Given the description of an element on the screen output the (x, y) to click on. 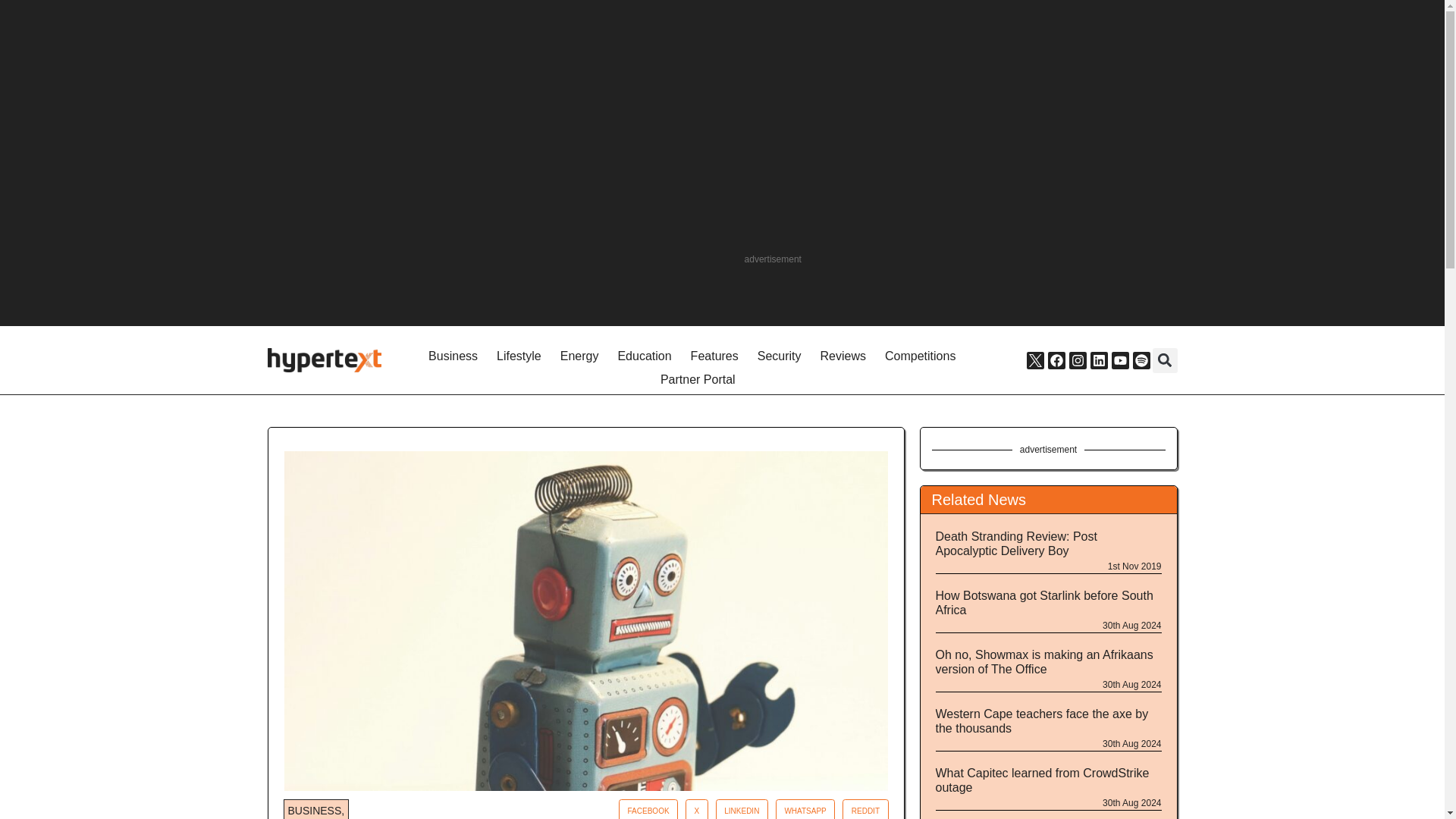
Security (779, 356)
Energy (579, 356)
BUSINESS (315, 810)
Education (643, 356)
Reviews (842, 356)
Features (714, 356)
Partner Portal (697, 380)
Business (453, 356)
Competitions (919, 356)
Lifestyle (518, 356)
